Given the description of an element on the screen output the (x, y) to click on. 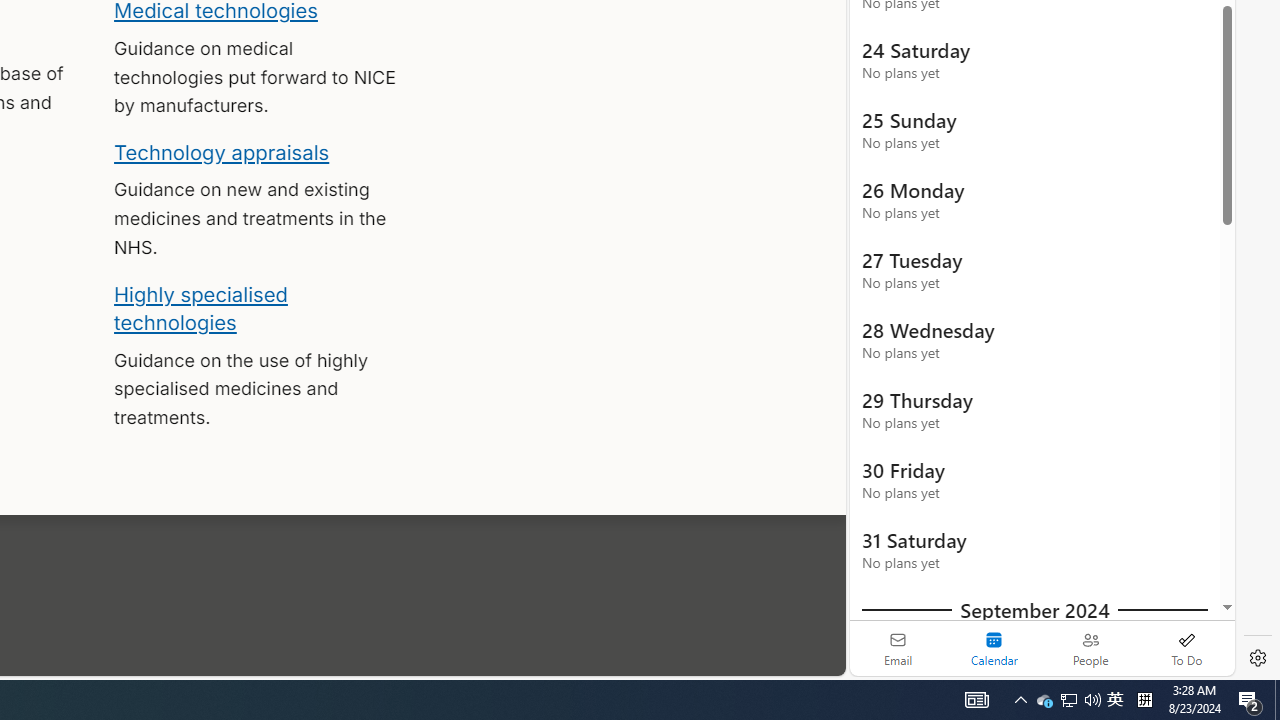
Email (898, 648)
